Given the description of an element on the screen output the (x, y) to click on. 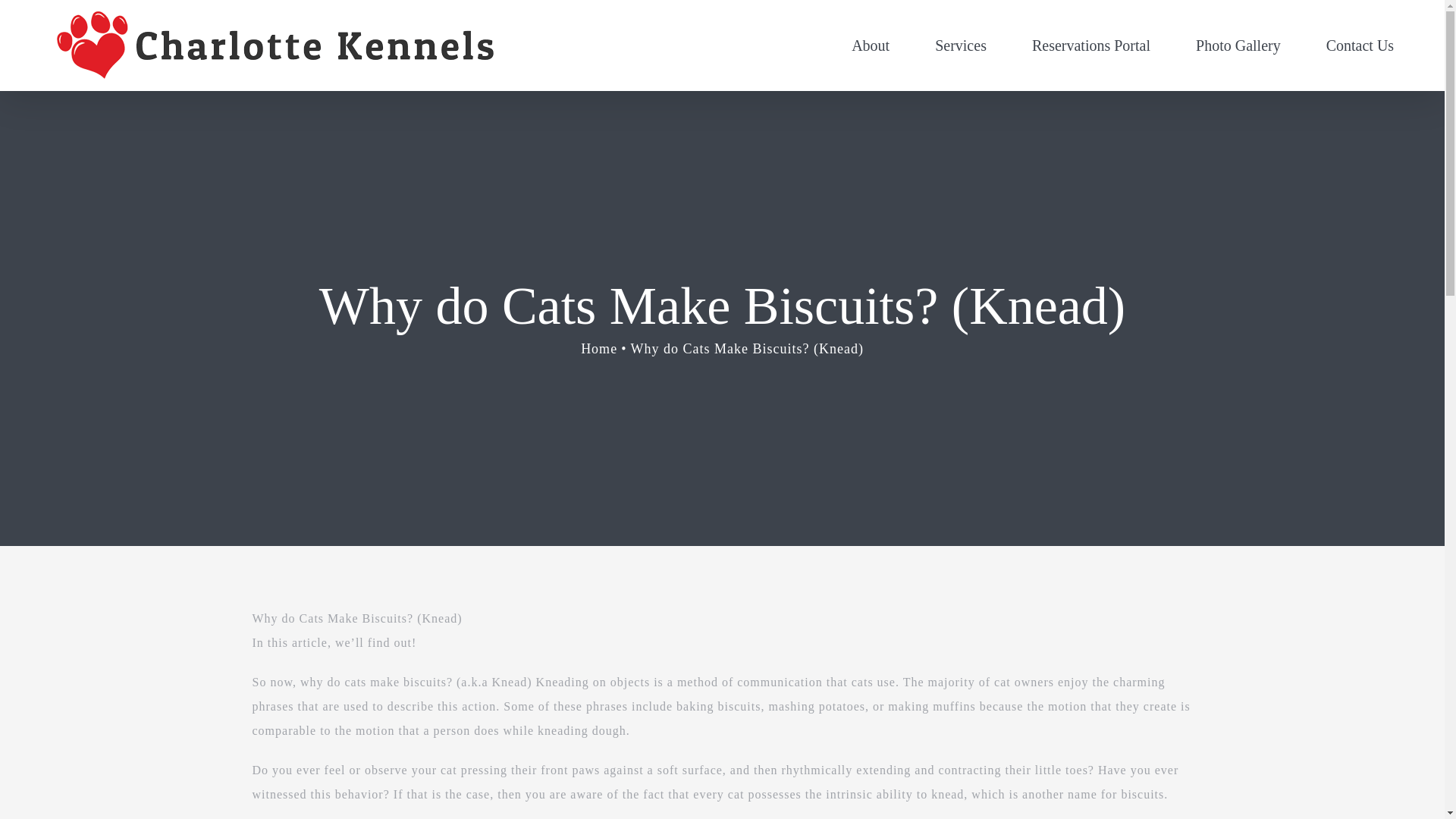
Reservations Portal (1091, 45)
Photo Gallery (1238, 45)
Home (598, 348)
